Given the description of an element on the screen output the (x, y) to click on. 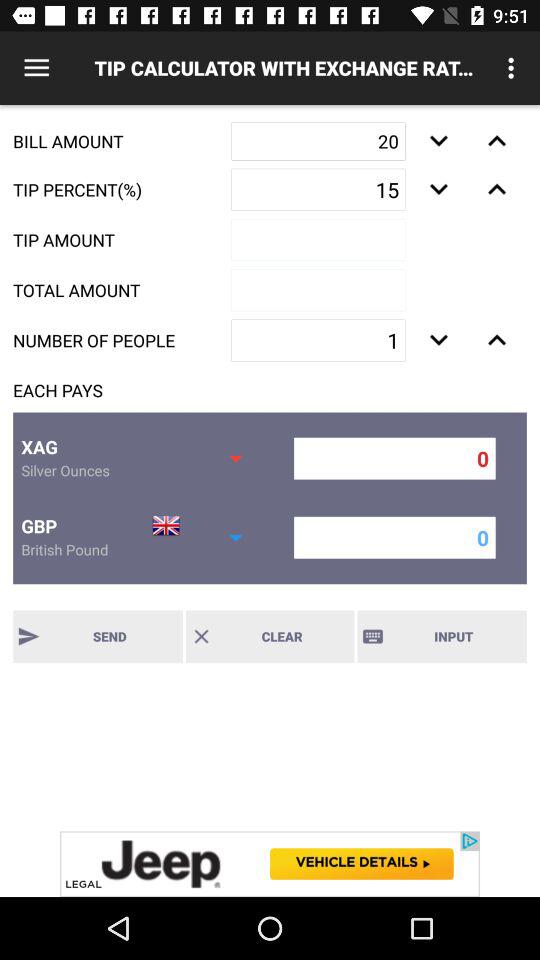
increases count (496, 340)
